Given the description of an element on the screen output the (x, y) to click on. 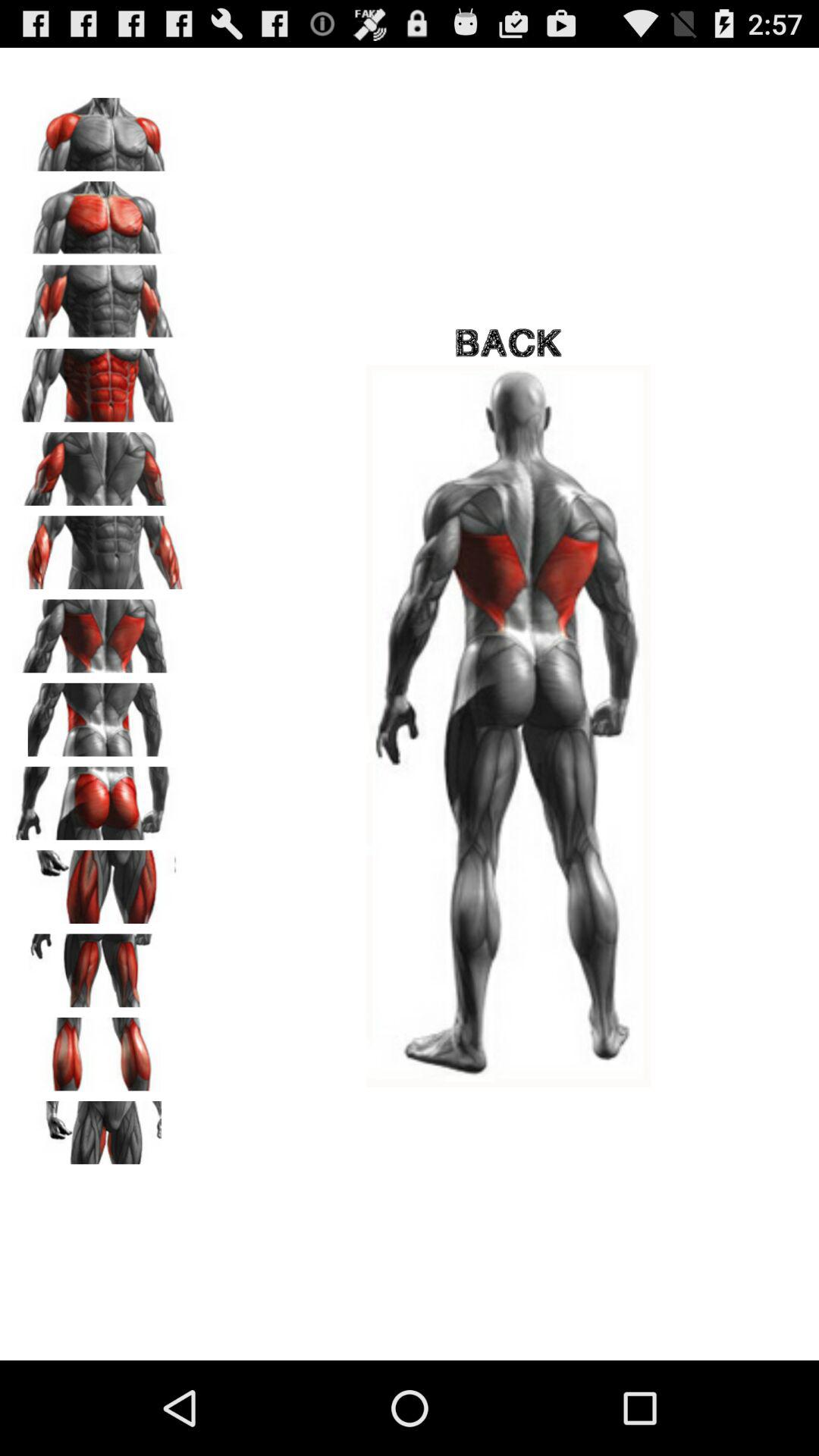
display figure (99, 881)
